Given the description of an element on the screen output the (x, y) to click on. 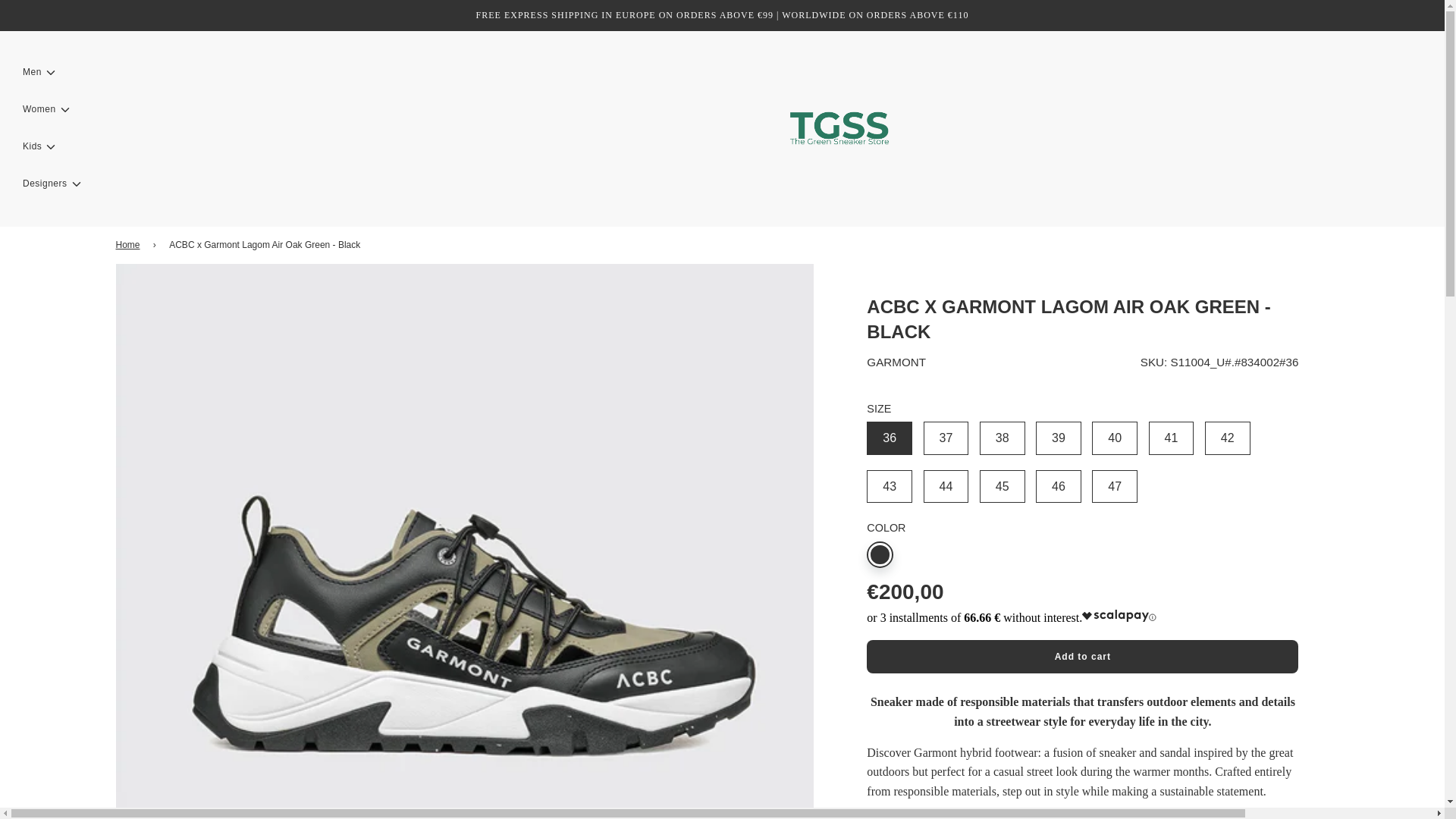
GARMONT (896, 361)
